Given the description of an element on the screen output the (x, y) to click on. 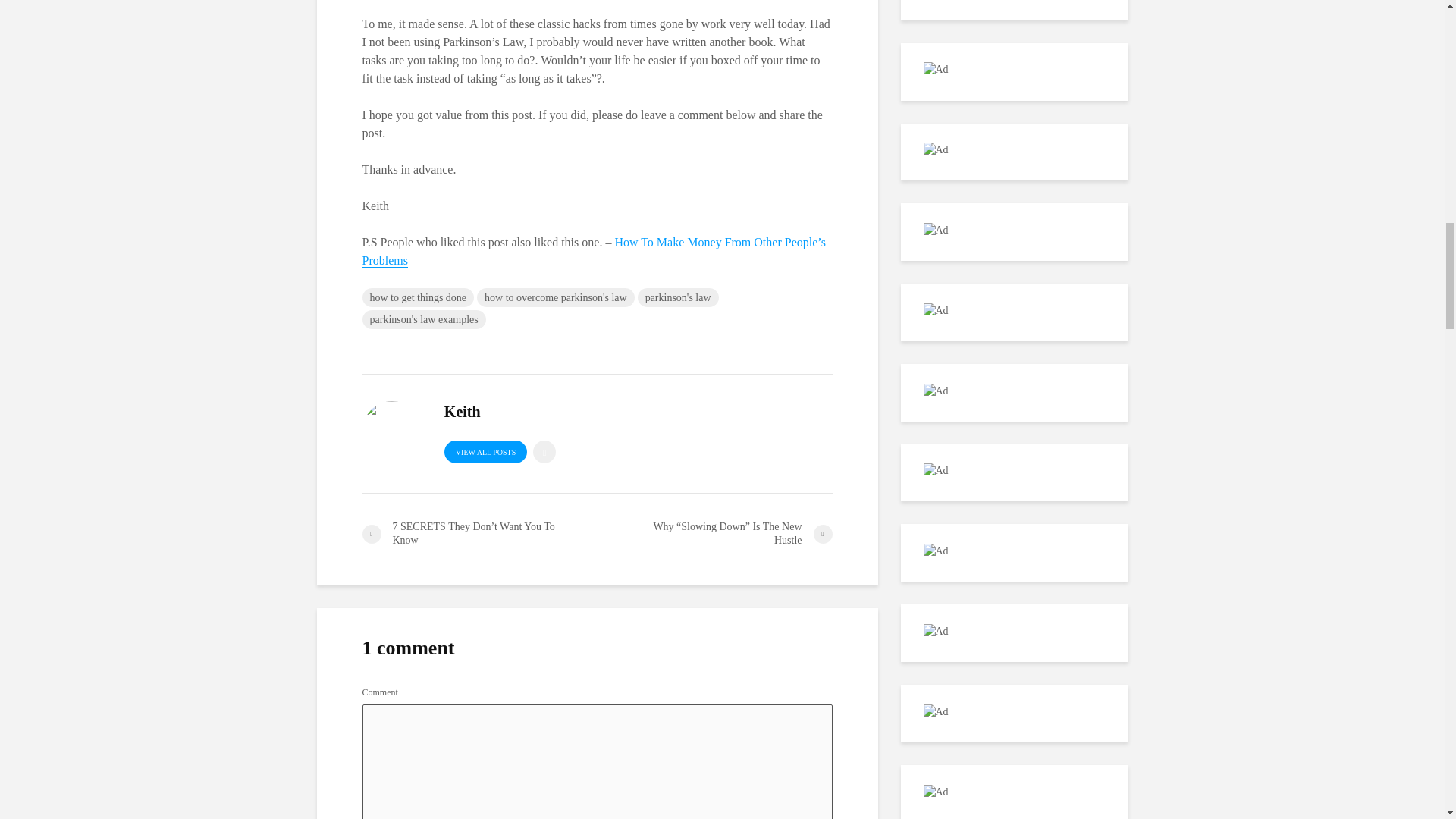
how to overcome parkinson's law (555, 297)
parkinson's law (678, 297)
VIEW ALL POSTS (485, 451)
how to get things done (418, 297)
parkinson's law examples (424, 319)
